Given the description of an element on the screen output the (x, y) to click on. 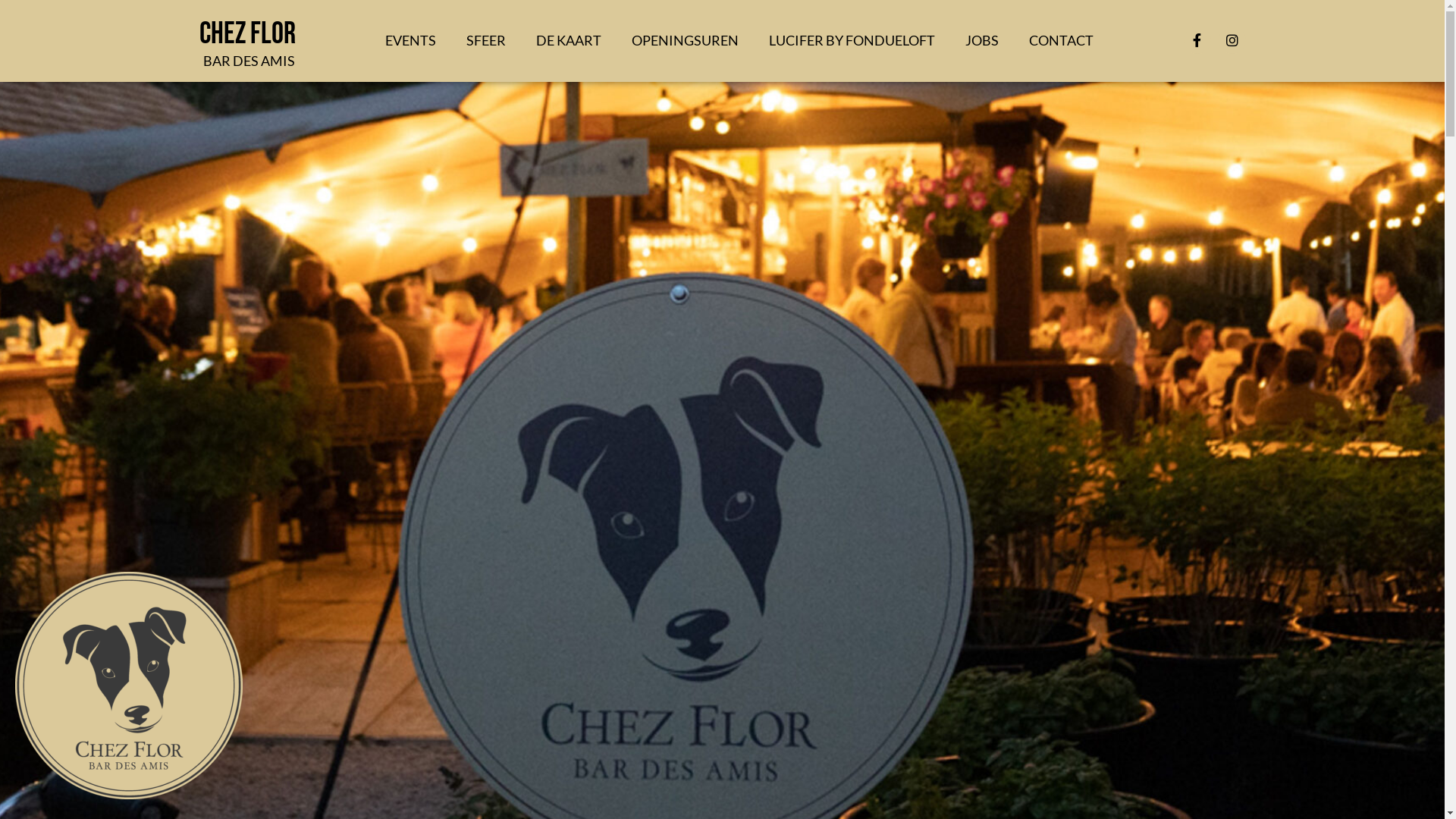
JOBS Element type: text (981, 39)
EVENTS Element type: text (410, 39)
OPENINGSUREN Element type: text (684, 39)
SFEER Element type: text (485, 39)
LUCIFER BY FONDUELOFT Element type: text (851, 39)
DE KAART Element type: text (568, 39)
Chez Flor Element type: text (246, 33)
BAR DES AMIS Element type: text (248, 59)
CONTACT Element type: text (1061, 39)
